Given the description of an element on the screen output the (x, y) to click on. 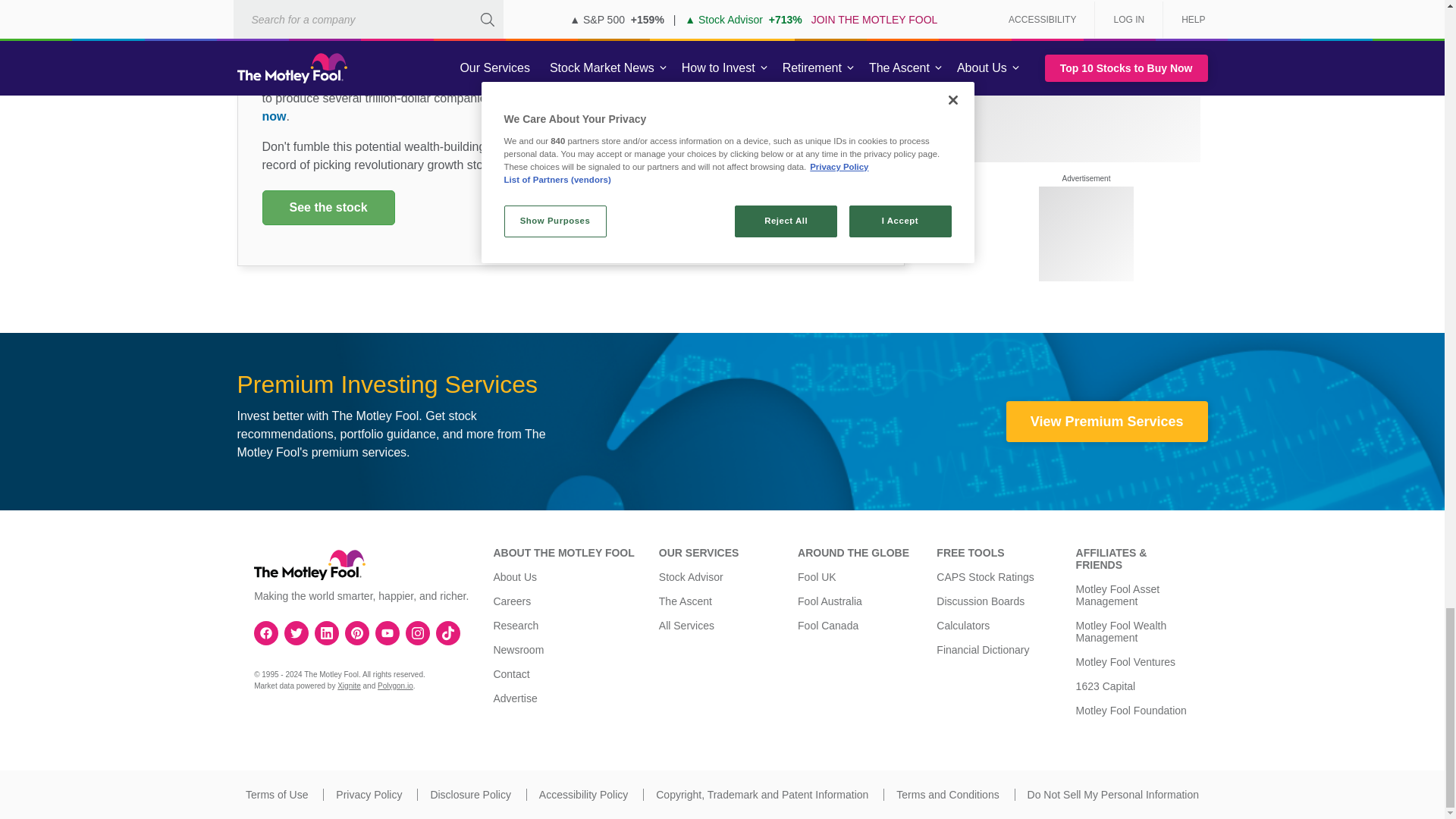
Do Not Sell My Personal Information. (1112, 794)
Terms and Conditions (947, 794)
Disclosure Policy (470, 794)
Accessibility Policy (582, 794)
Copyright, Trademark and Patent Information (761, 794)
Privacy Policy (368, 794)
Terms of Use (276, 794)
